Given the description of an element on the screen output the (x, y) to click on. 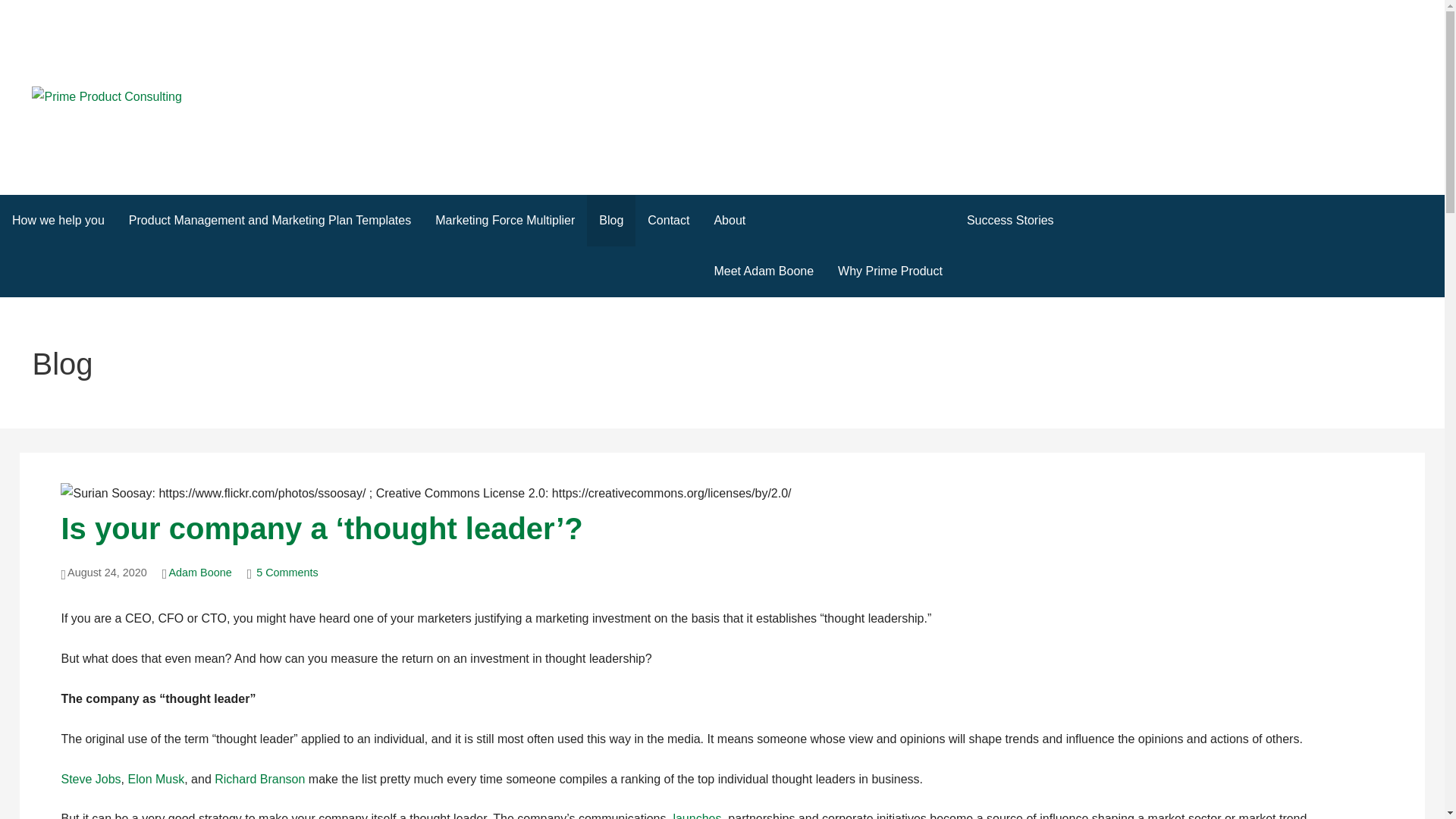
How we help you (58, 219)
Blog (610, 219)
Prime Product Consulting (173, 126)
Meet Adam Boone (763, 271)
About (827, 219)
Adam Boone (199, 572)
5 Comments (287, 572)
Product Management and Marketing Plan Templates (696, 815)
Steve Jobs (90, 779)
Posts by Adam Boone (199, 572)
Contact (667, 219)
Marketing Force Multiplier (504, 219)
Success Stories (1010, 219)
Product Management and Marketing Plan Templates (269, 219)
launches (696, 815)
